Given the description of an element on the screen output the (x, y) to click on. 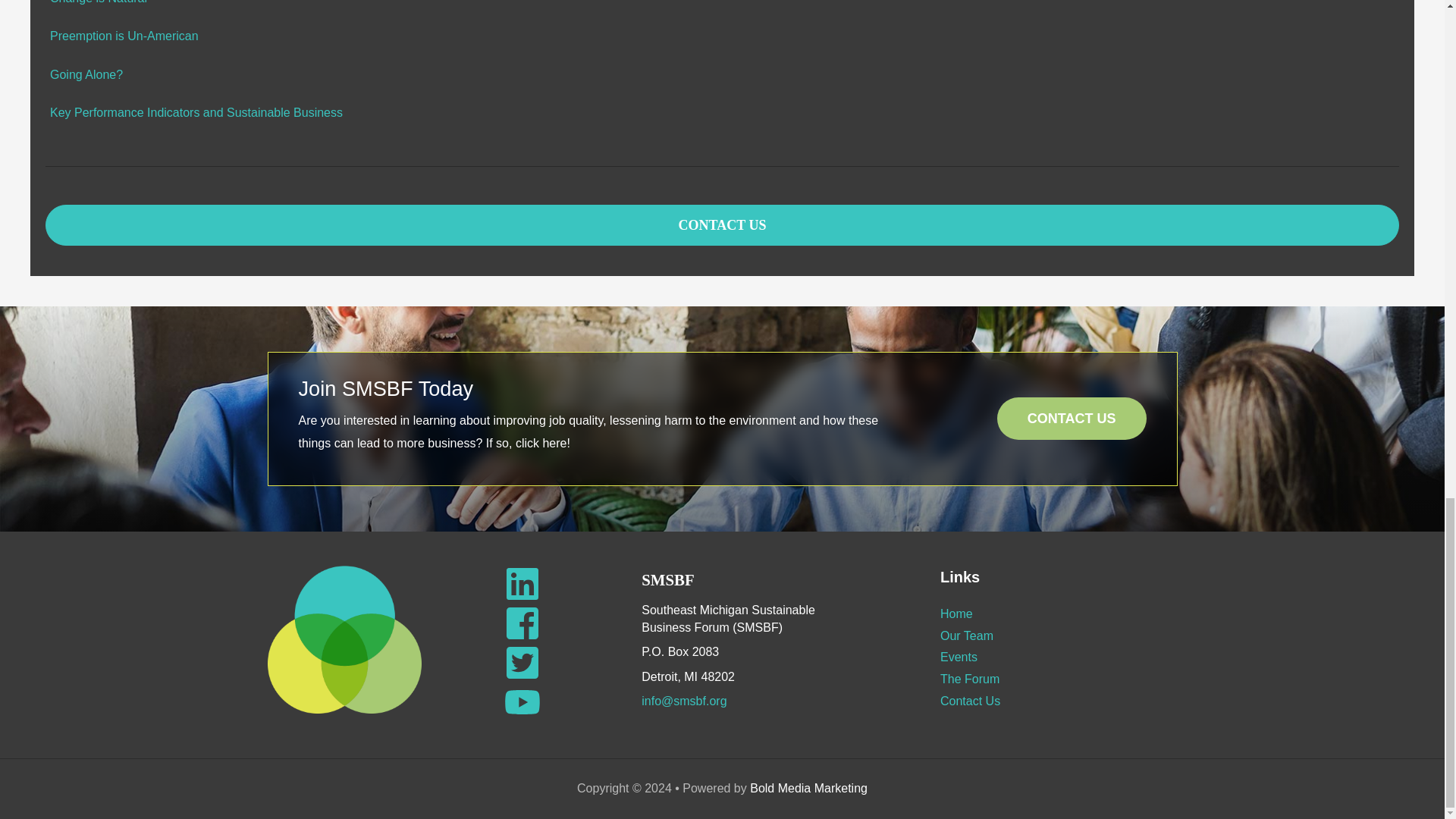
Going Alone? (85, 74)
Key Performance Indicators and Sustainable Business (195, 112)
Change is Natural (98, 2)
Preemption is Un-American (123, 35)
